Given the description of an element on the screen output the (x, y) to click on. 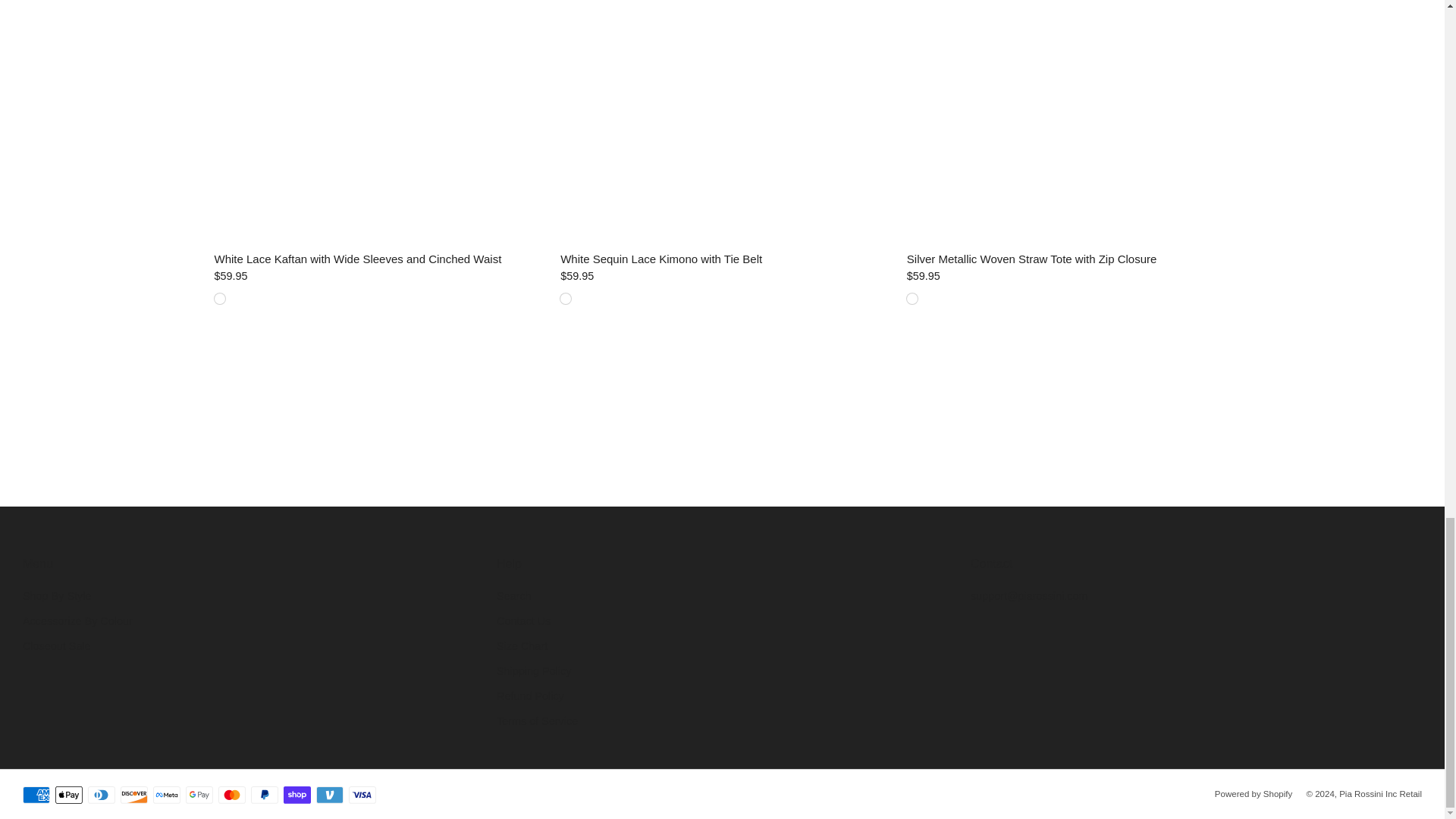
White Sequin Lace Kimono with Tie Belt (721, 258)
White Lace Kaftan with Wide Sleeves and Cinched Waist (376, 276)
White Lace Kaftan with Wide Sleeves and Cinched Waist (376, 258)
